Given the description of an element on the screen output the (x, y) to click on. 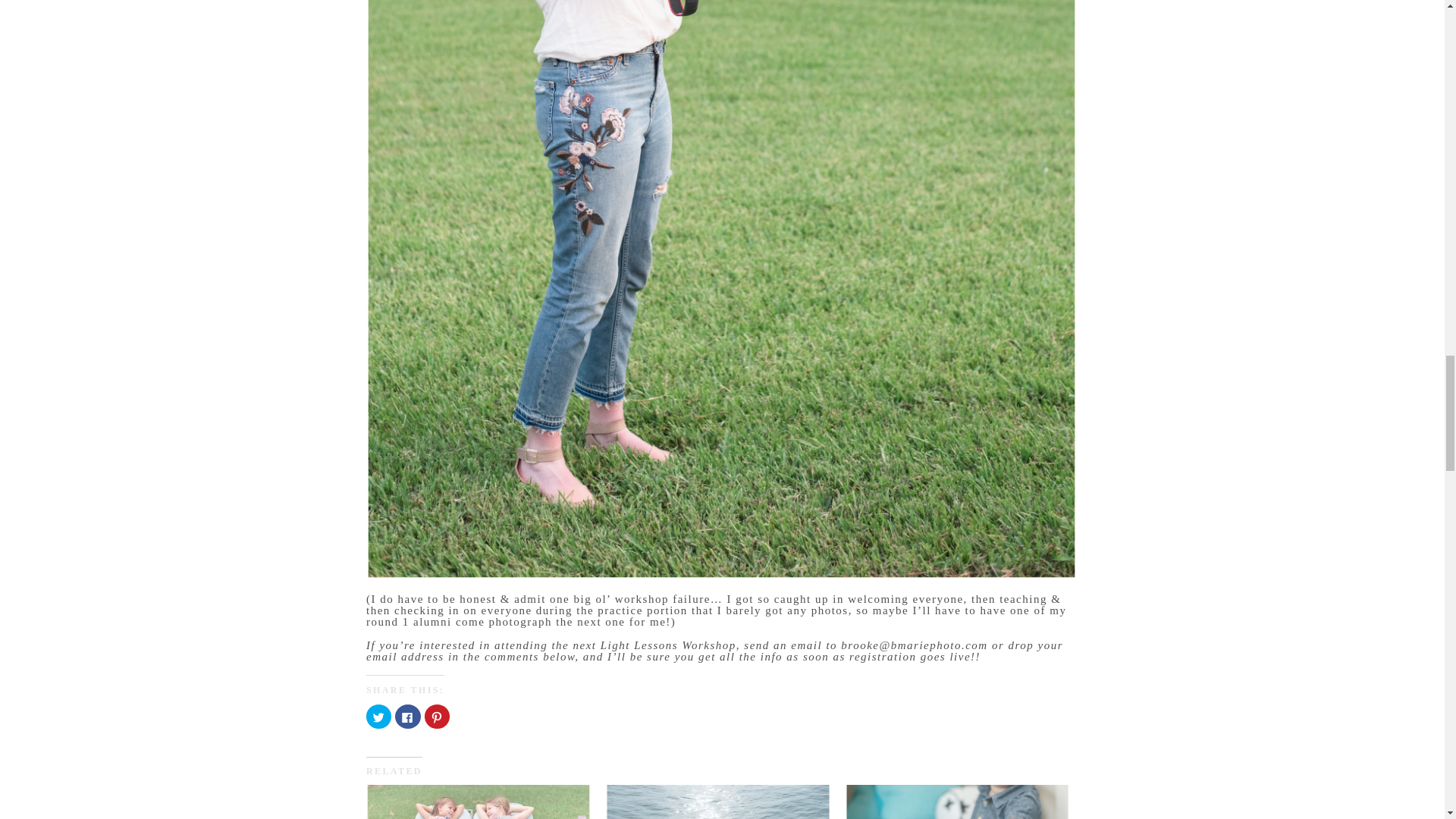
Click to share on Twitter (378, 716)
Click to share on Facebook (407, 716)
Click to share on Pinterest (437, 716)
